Given the description of an element on the screen output the (x, y) to click on. 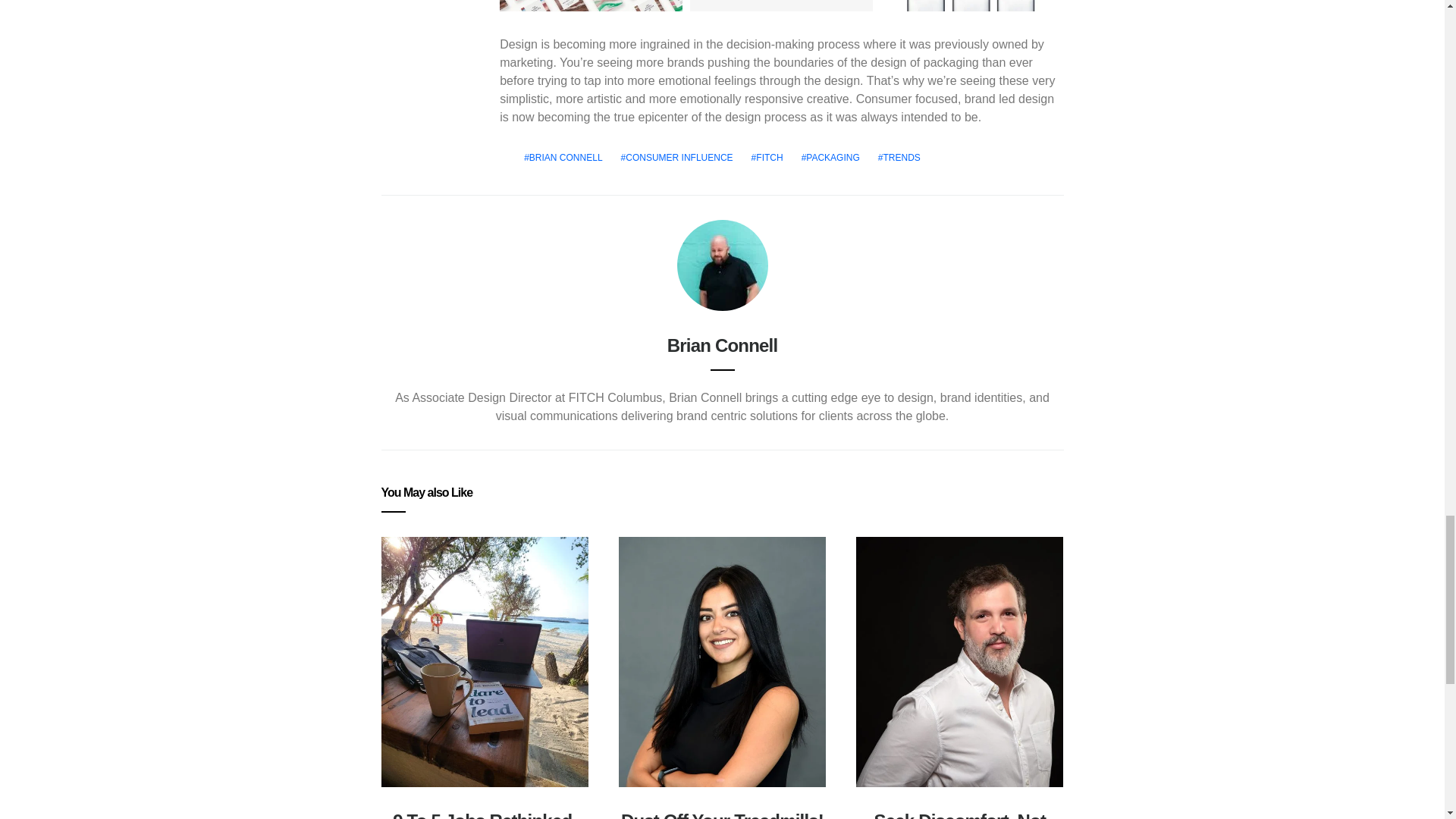
BRIAN CONNELL (563, 157)
CONSUMER INFLUENCE (676, 157)
Posts by Brian Connell (721, 344)
